Given the description of an element on the screen output the (x, y) to click on. 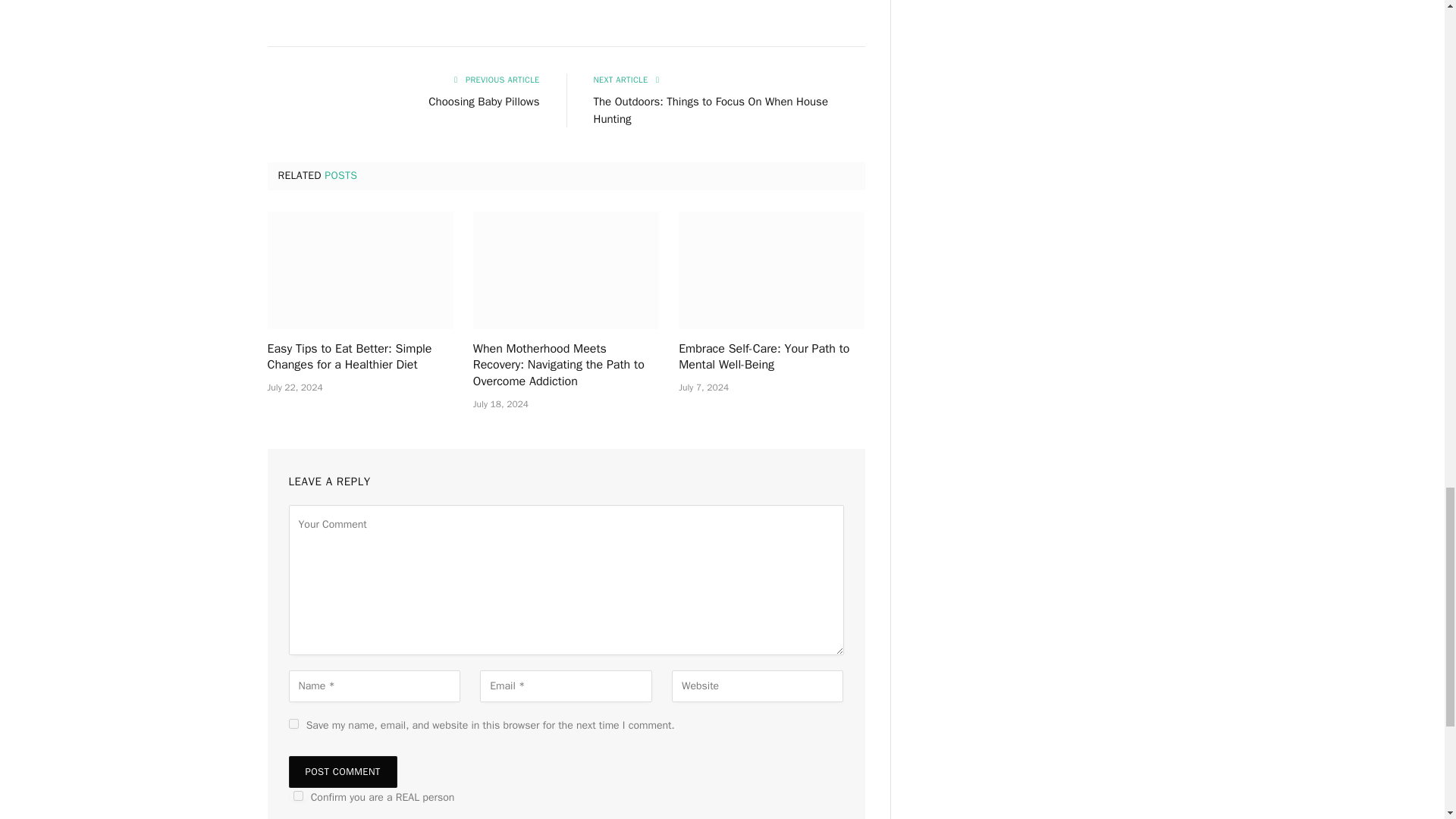
on (297, 795)
yes (293, 723)
Post Comment (342, 771)
